Given the description of an element on the screen output the (x, y) to click on. 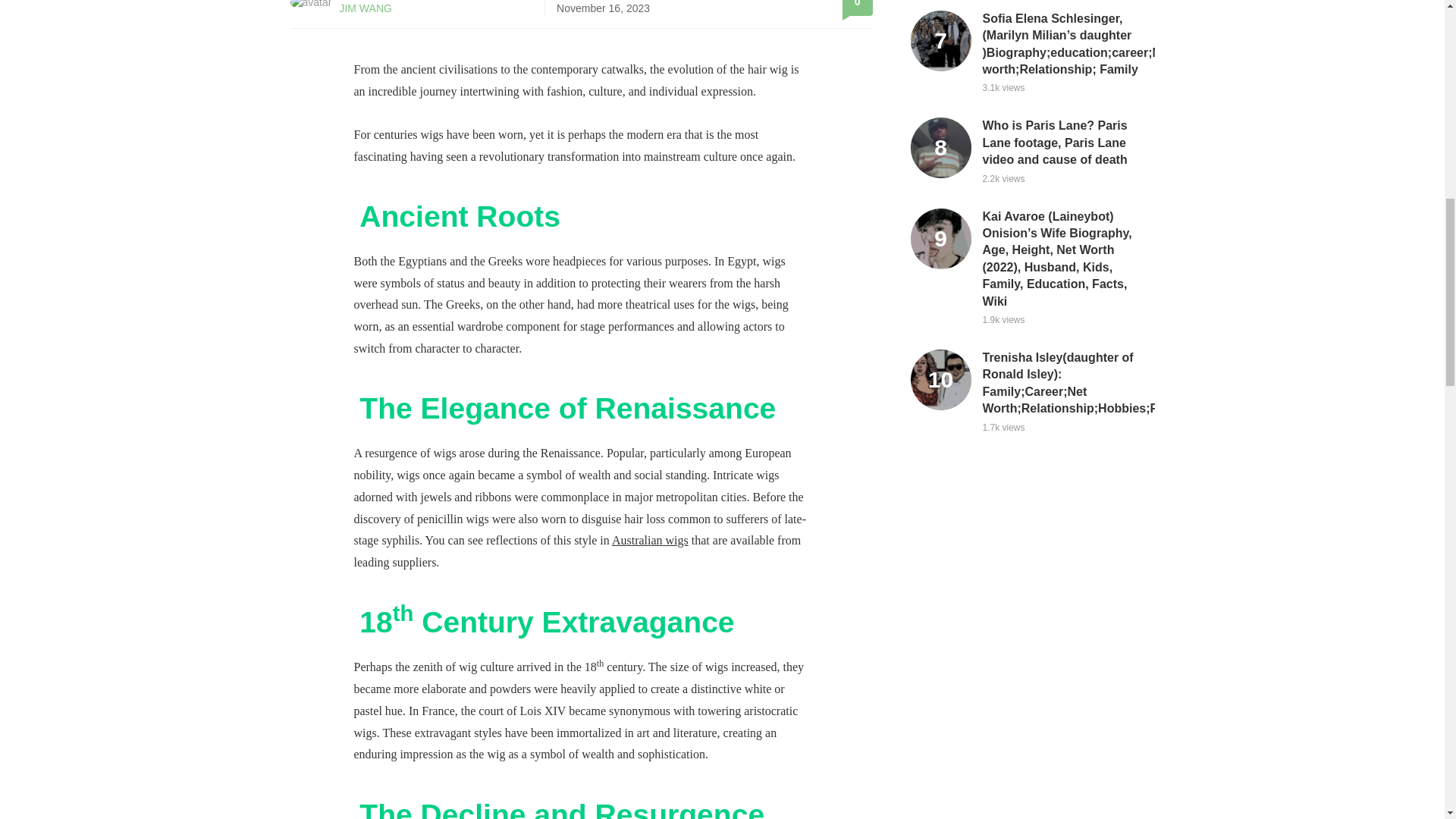
Posts by JIM WANG (365, 8)
